Given the description of an element on the screen output the (x, y) to click on. 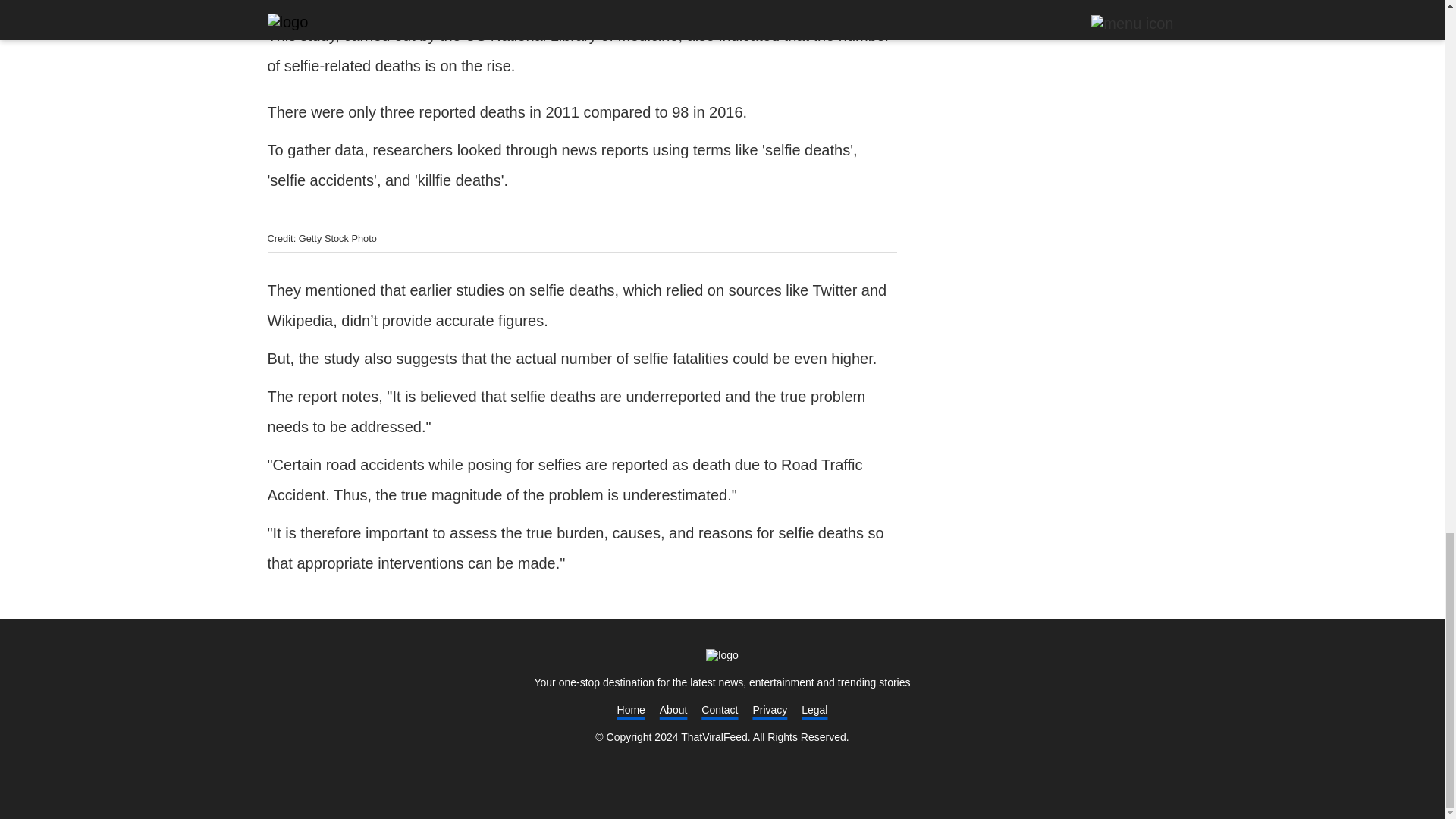
Legal (814, 709)
Home (631, 709)
About (673, 709)
Legal (814, 709)
Contact (719, 709)
Home (722, 654)
Privacy Policy (769, 709)
About (673, 709)
Privacy (769, 709)
Contact (719, 709)
